Given the description of an element on the screen output the (x, y) to click on. 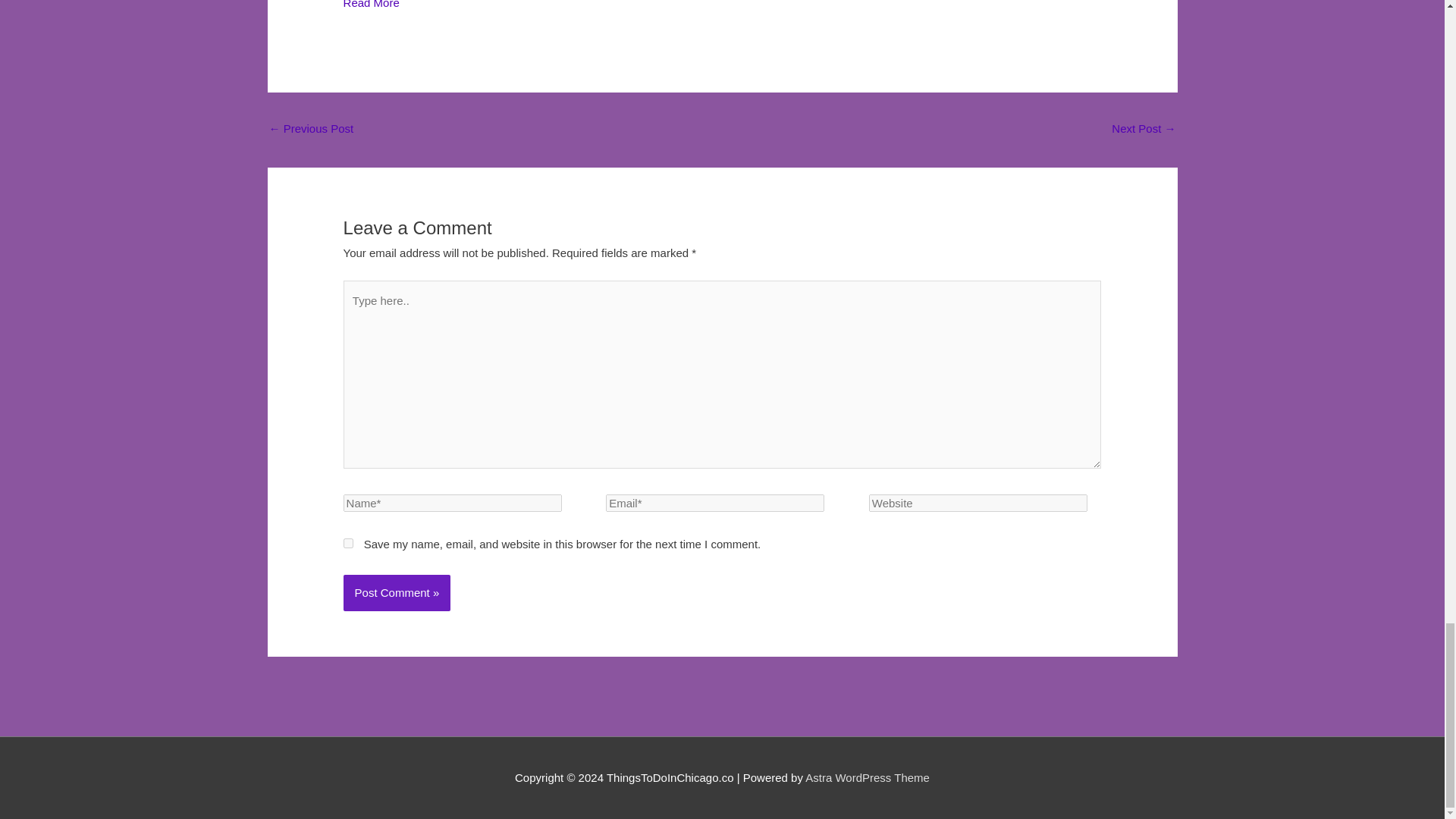
yes (348, 542)
